Given the description of an element on the screen output the (x, y) to click on. 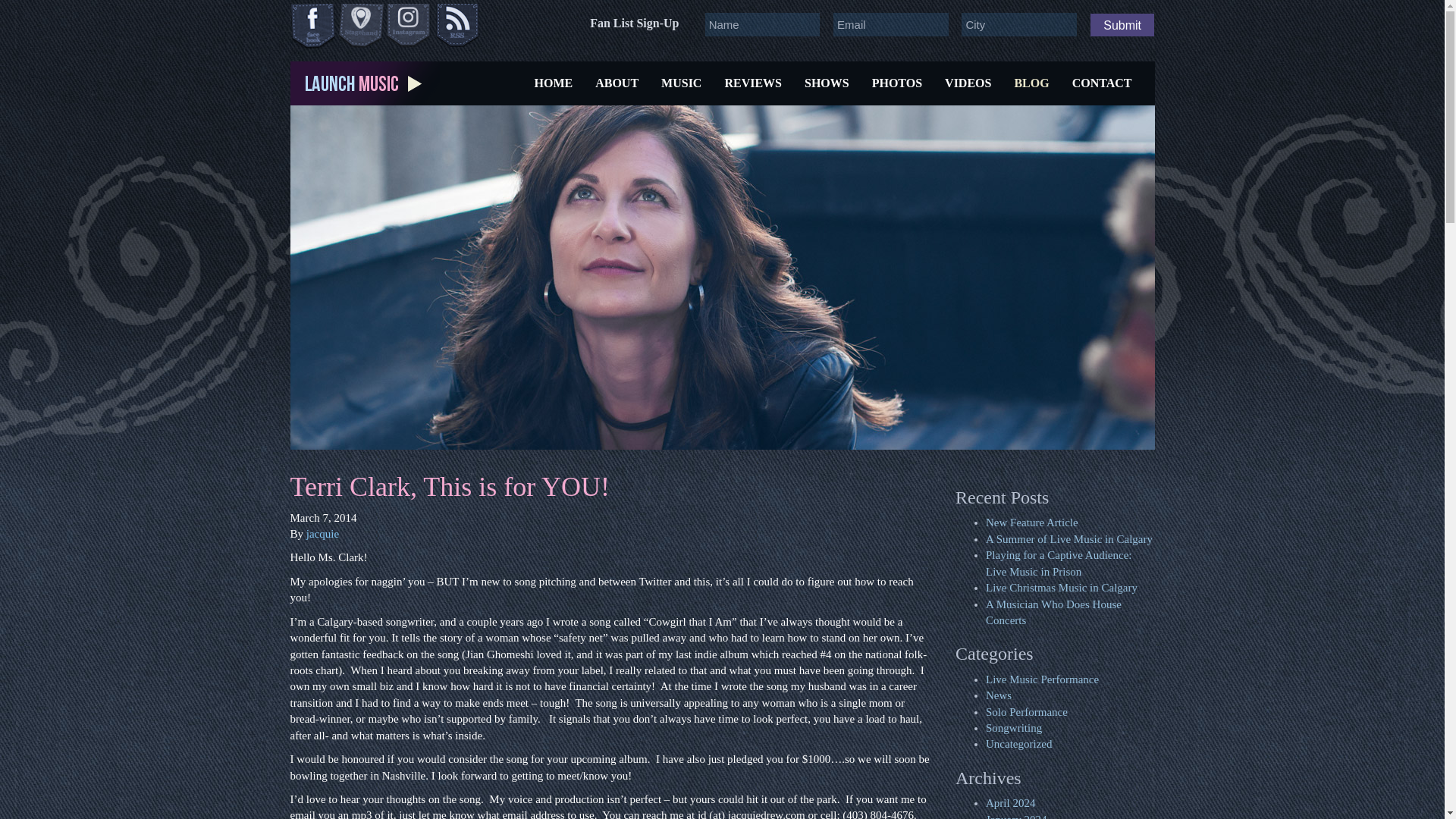
Instagram (409, 26)
Playing for a Captive Audience: Live Music in Prison (1058, 562)
ABOUT (616, 83)
Live Music Performance (1042, 679)
PHOTOS (896, 83)
Live Christmas Music in Calgary (1061, 587)
April 2024 (1010, 802)
New Feature Article (1031, 522)
REVIEWS (753, 83)
City (1018, 24)
Email (890, 24)
MUSIC (681, 83)
VIDEOS (968, 83)
Songwriting (1013, 727)
Submit (1122, 24)
